Given the description of an element on the screen output the (x, y) to click on. 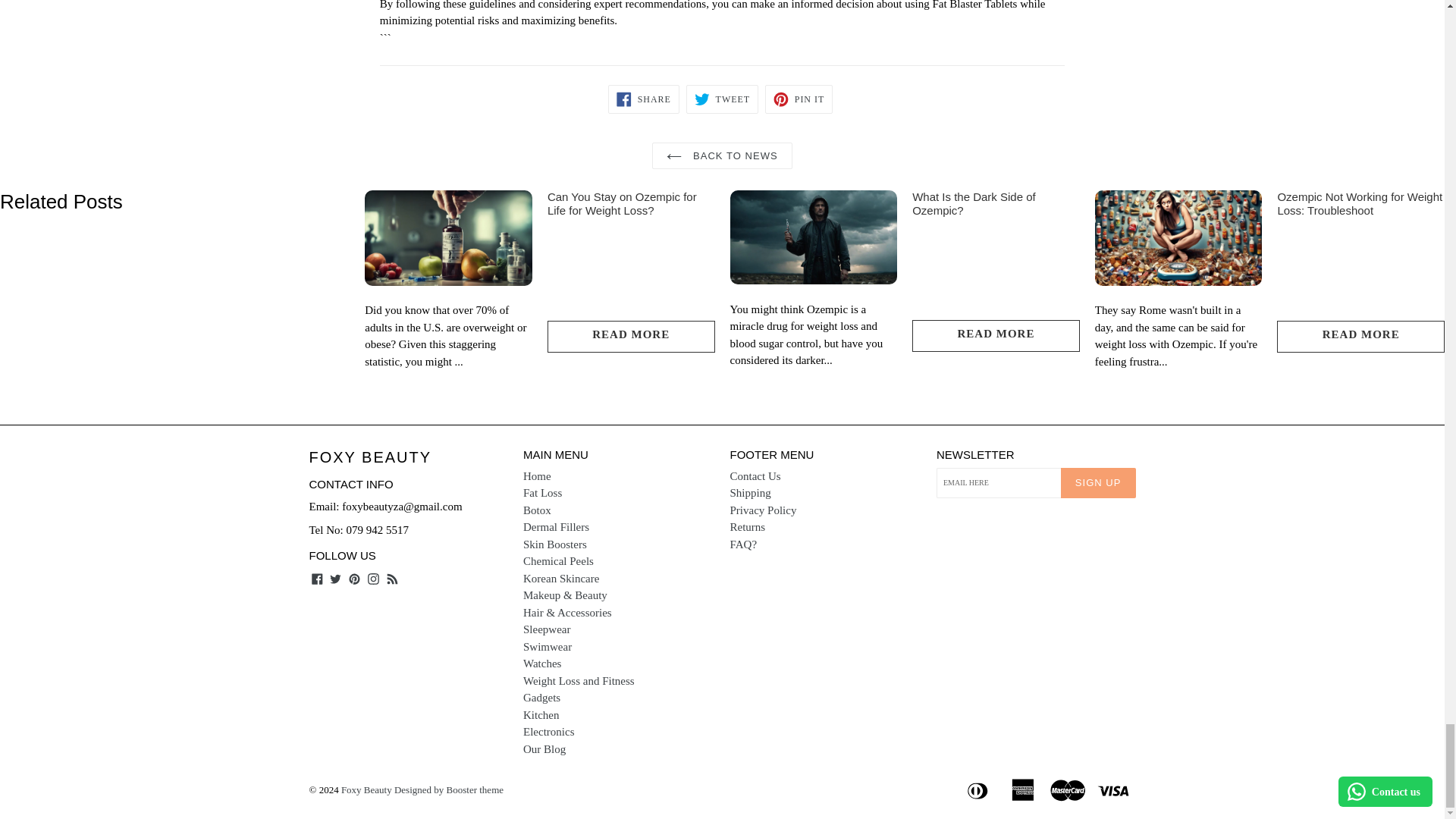
Foxy Beauty on Instagram (373, 578)
Tweet on Twitter (721, 99)
diners club (979, 788)
Foxy Beauty on Facebook (316, 578)
Share on Facebook (643, 99)
Foxy Beauty on Twitter (335, 578)
Foxy Beauty on Pinterest (354, 578)
Pin on Pinterest (798, 99)
